Given the description of an element on the screen output the (x, y) to click on. 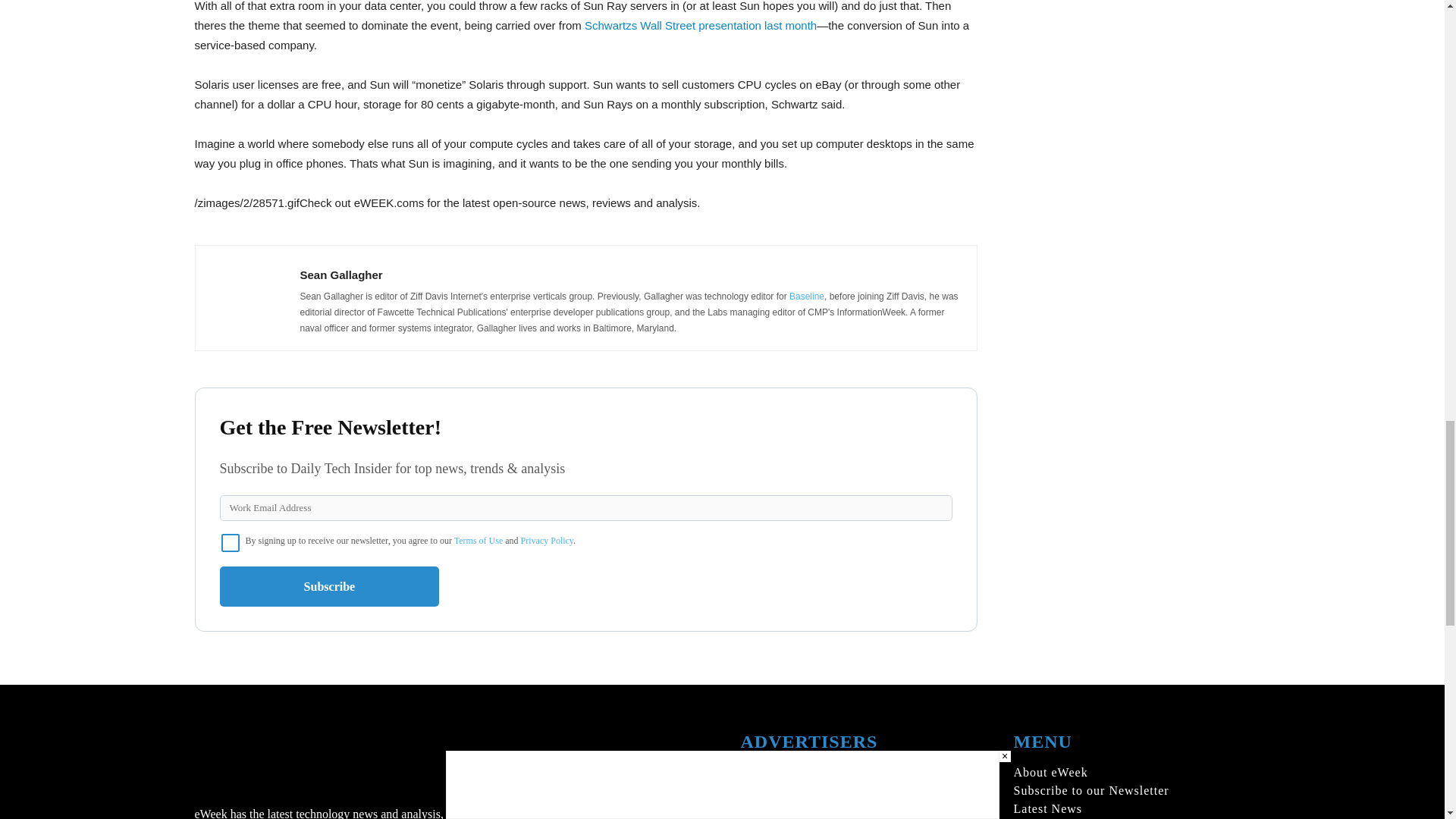
on (230, 542)
